Given the description of an element on the screen output the (x, y) to click on. 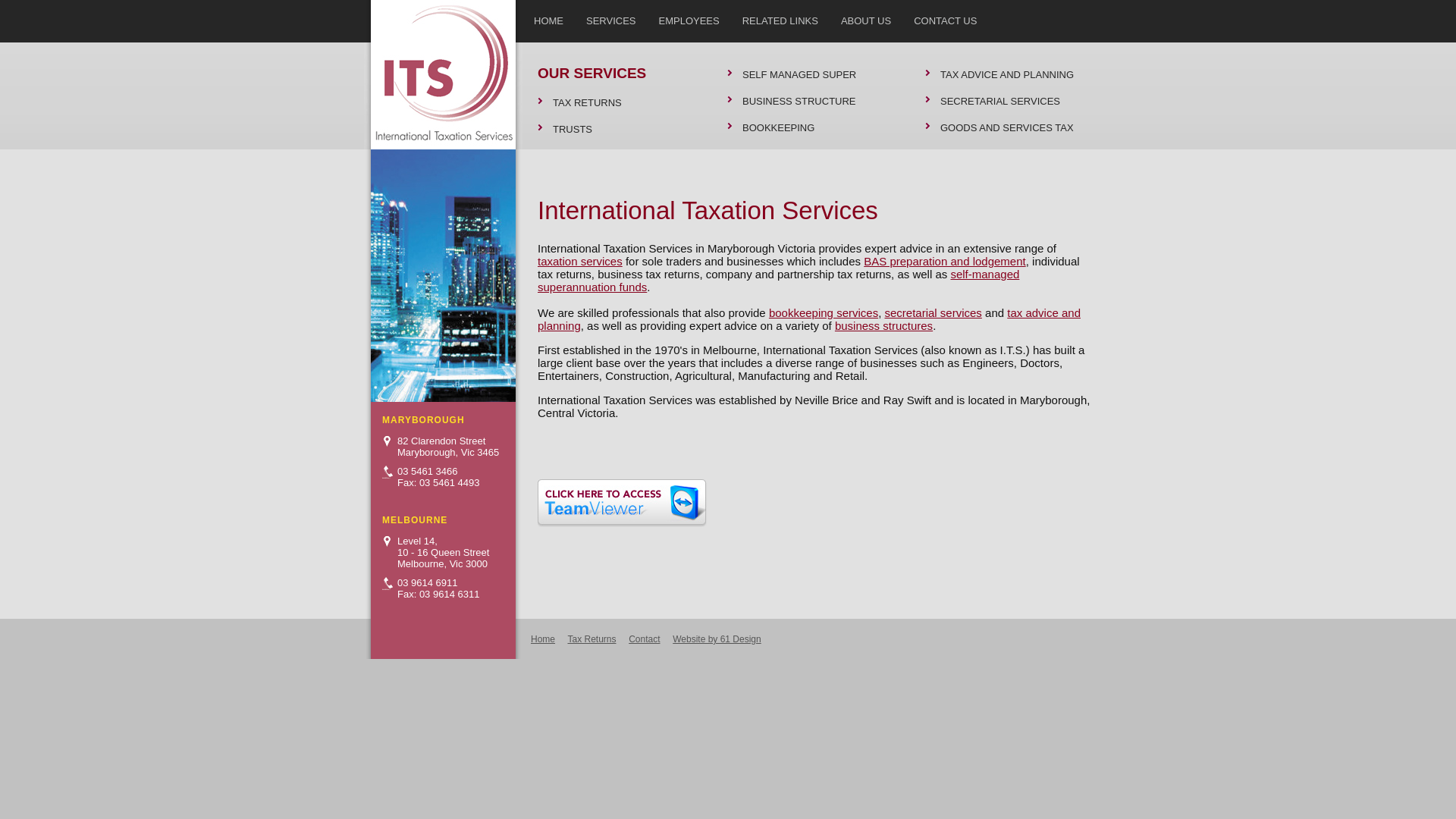
EMPLOYEES Element type: text (689, 18)
RELATED LINKS Element type: text (780, 18)
HOME Element type: text (548, 18)
ABOUT US Element type: text (865, 18)
business structures Element type: text (883, 325)
CONTACT US Element type: text (945, 18)
SECRETARIAL SERVICES Element type: text (1008, 100)
taxation services Element type: text (579, 260)
Contact Element type: text (643, 638)
GOODS AND SERVICES TAX Element type: text (1008, 127)
secretarial services Element type: text (932, 312)
BAS preparation and lodgement Element type: text (944, 260)
BOOKKEEPING Element type: text (810, 127)
Tax Returns Element type: text (591, 638)
BUSINESS STRUCTURE Element type: text (810, 100)
TRUSTS Element type: text (620, 129)
SELF MANAGED SUPER Element type: text (810, 74)
SERVICES Element type: text (610, 18)
tax advice and planning Element type: text (808, 319)
self-managed superannuation funds Element type: text (778, 280)
Home Element type: text (542, 638)
TAX ADVICE AND PLANNING Element type: text (1008, 74)
bookkeeping services Element type: text (823, 312)
Website by 61 Design Element type: text (716, 638)
TAX RETURNS Element type: text (620, 102)
